Given the description of an element on the screen output the (x, y) to click on. 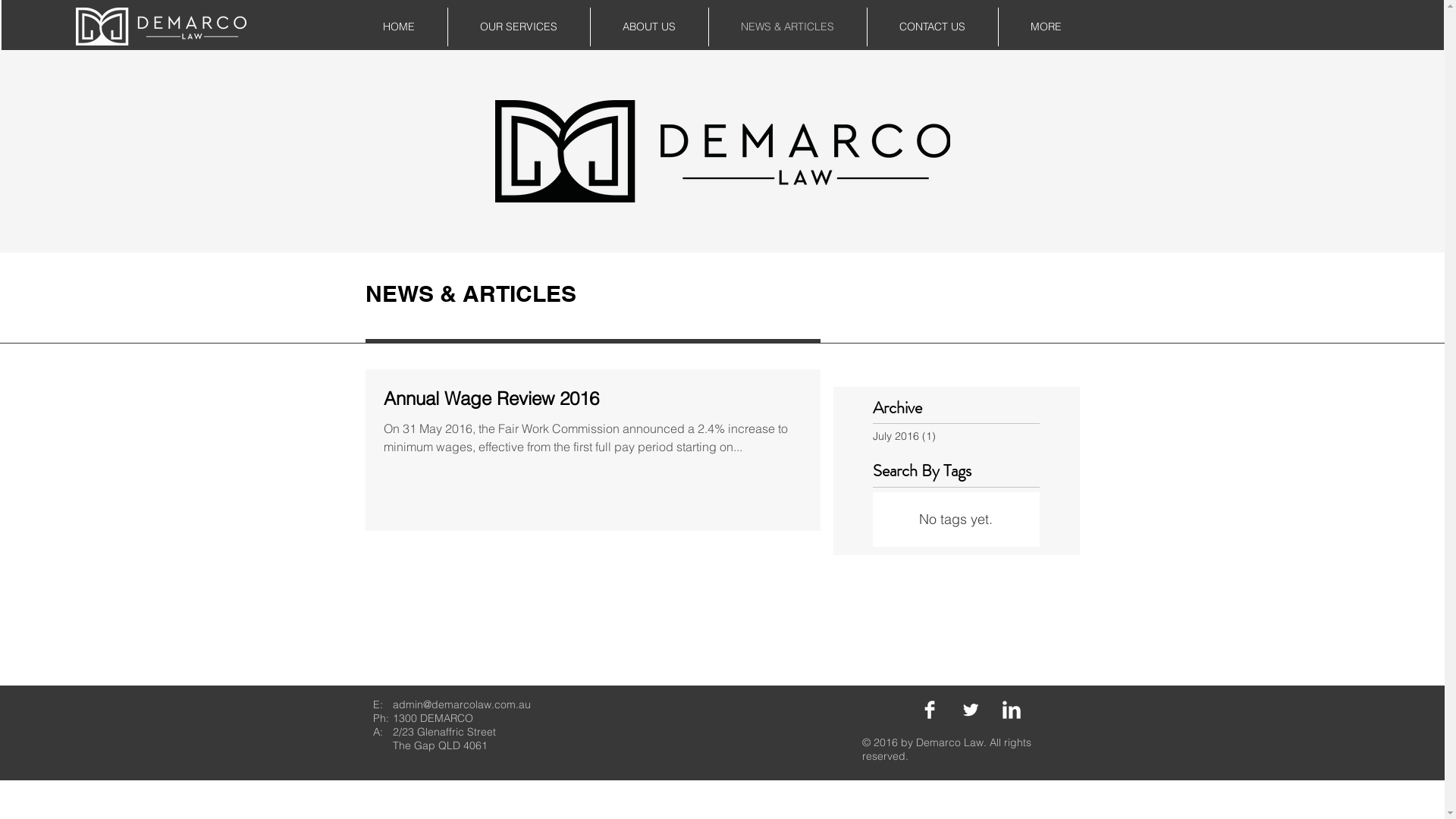
CONTACT US Element type: text (931, 26)
OUR SERVICES Element type: text (518, 26)
MORE Element type: text (1045, 26)
NEWS & ARTICLES Element type: text (787, 26)
Annual Wage Review 2016 Element type: text (592, 403)
ABOUT US Element type: text (648, 26)
Logo White.png Element type: hover (160, 26)
Untitled.png Element type: hover (722, 25)
HOME Element type: text (398, 26)
July 2016 (1) Element type: text (951, 436)
admin@demarcolaw.com.au Element type: text (461, 704)
